Given the description of an element on the screen output the (x, y) to click on. 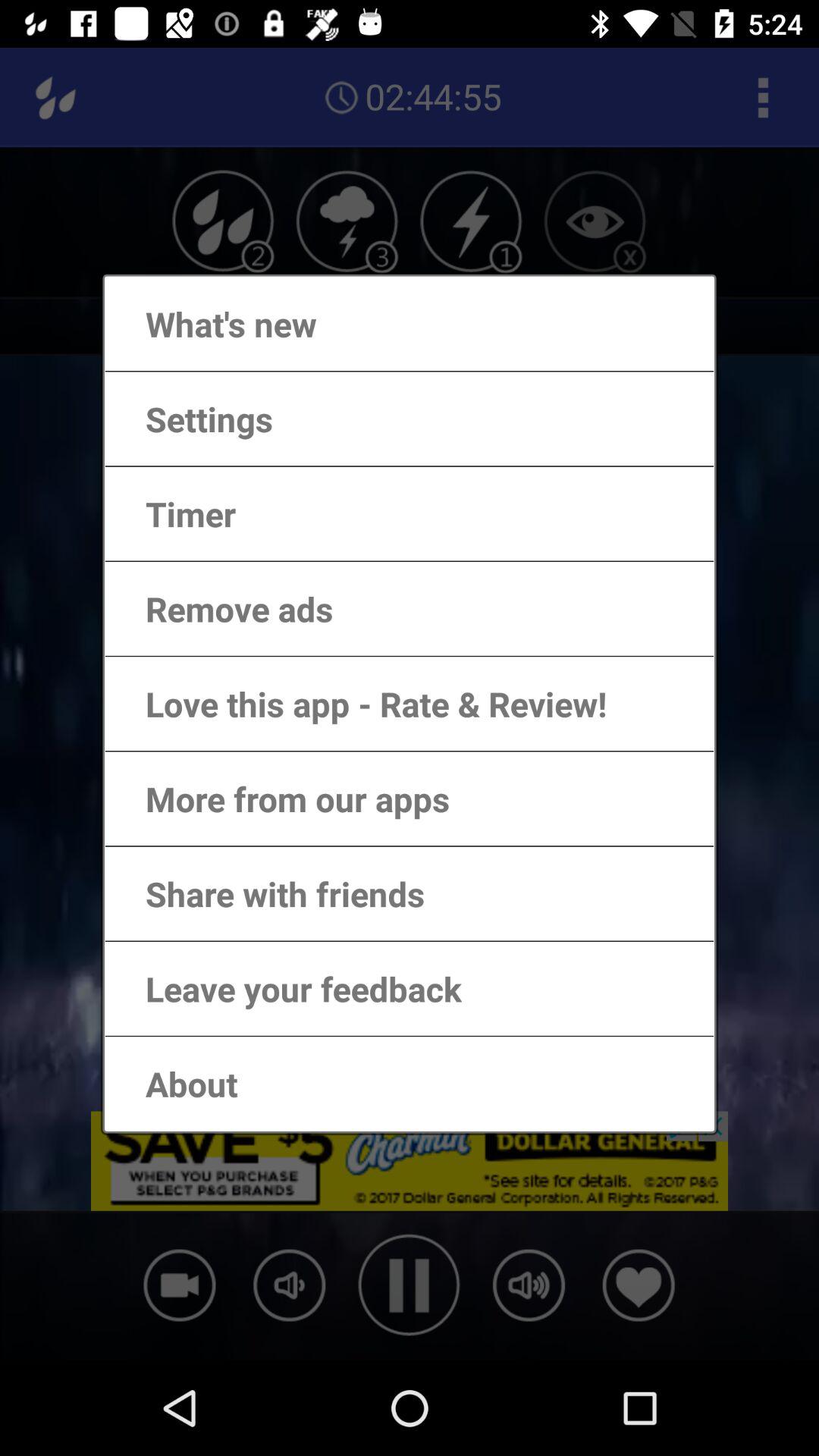
turn off the app below the more from our item (269, 893)
